Given the description of an element on the screen output the (x, y) to click on. 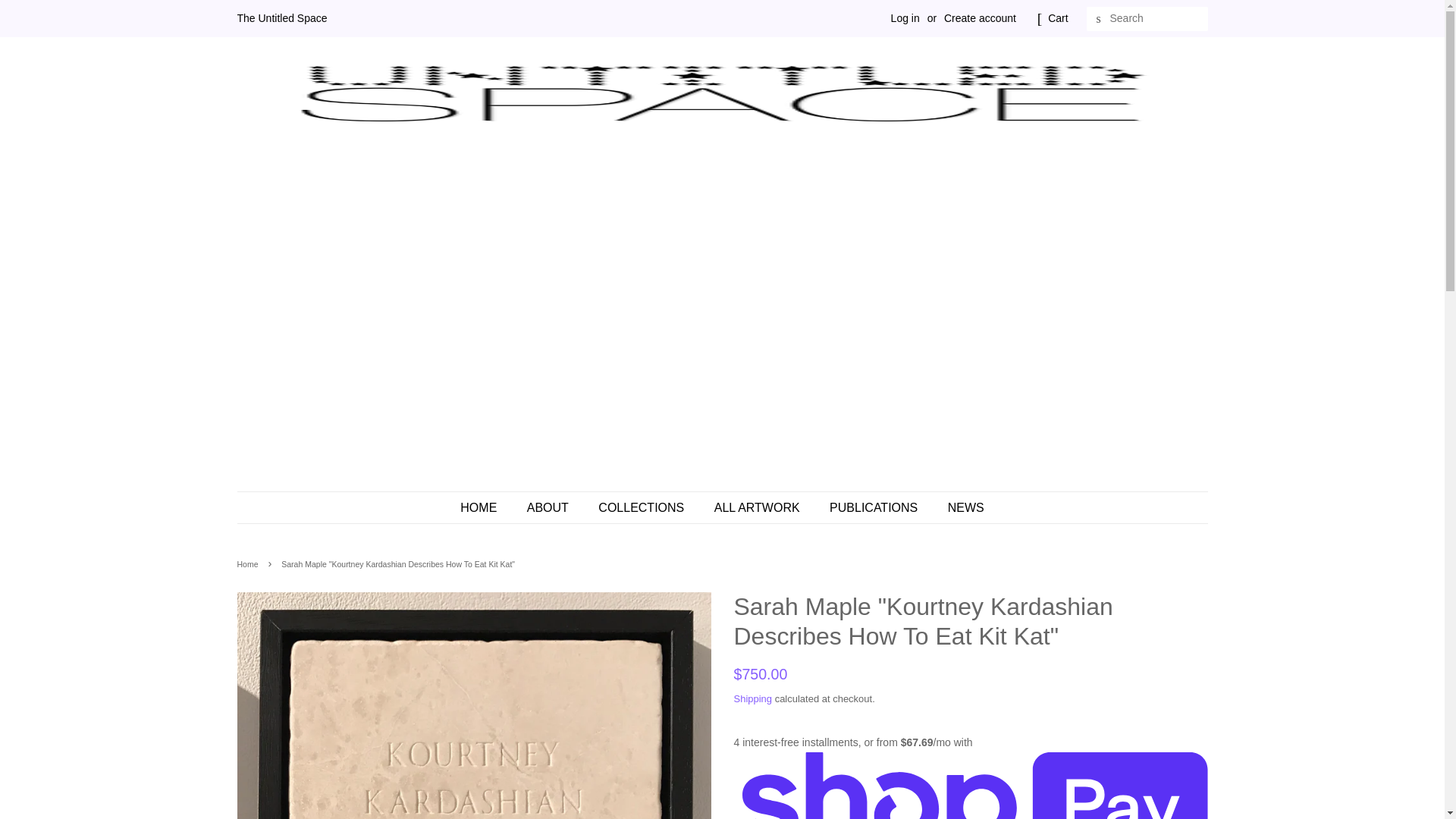
The Untitled Space (280, 18)
NEWS (960, 507)
Create account (979, 18)
SEARCH (1097, 18)
HOME (486, 507)
Cart (1057, 18)
ABOUT (549, 507)
COLLECTIONS (642, 507)
Back to the frontpage (248, 563)
PUBLICATIONS (875, 507)
Log in (905, 18)
Shipping (753, 698)
ALL ARTWORK (759, 507)
Home (248, 563)
